Given the description of an element on the screen output the (x, y) to click on. 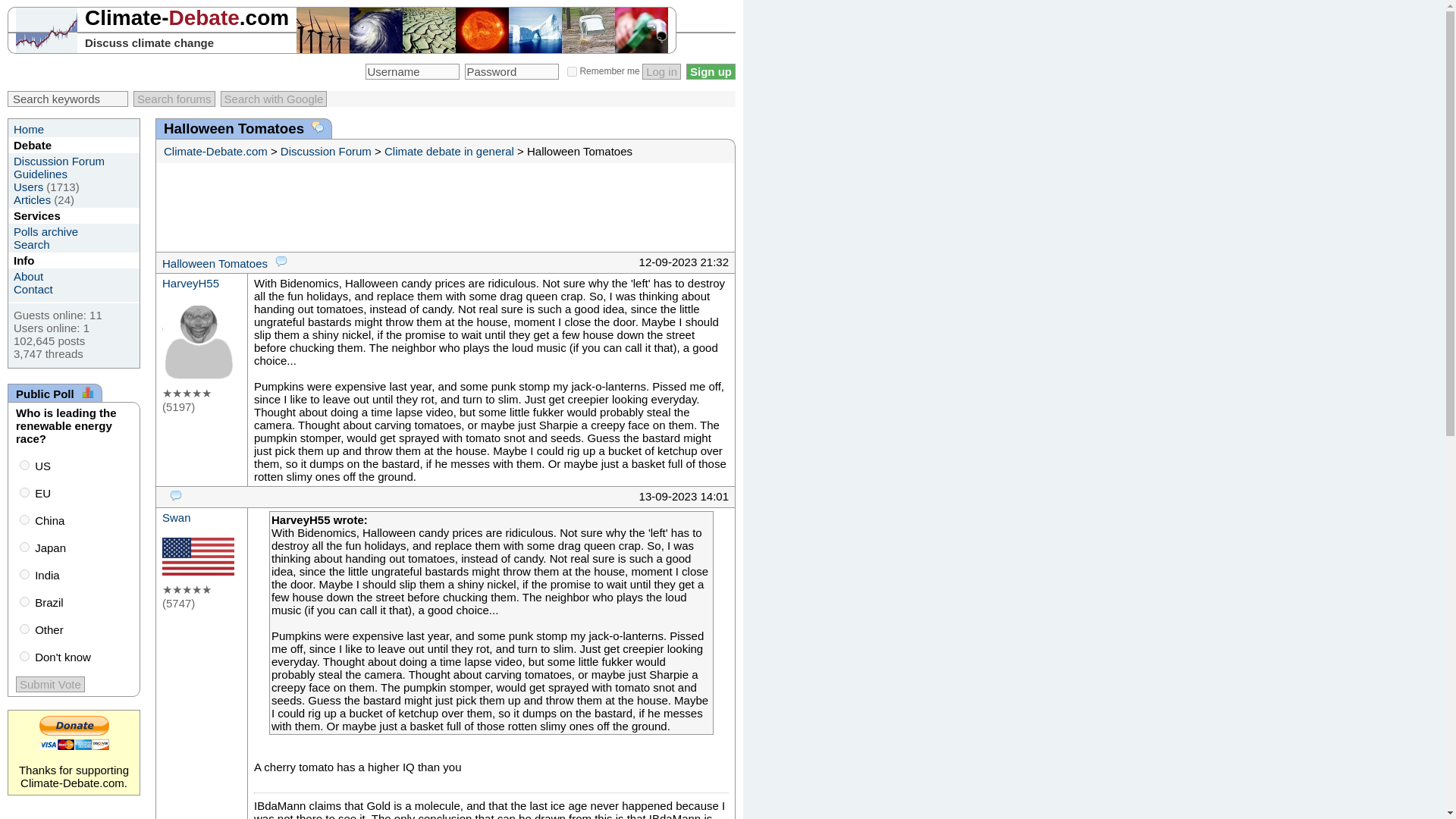
Advertisement (441, 205)
Articles (31, 199)
3 (24, 547)
5 (24, 601)
Home (28, 128)
Search forums (174, 98)
Search (31, 244)
Frontpage with the latest active threads. (28, 128)
About (28, 276)
Search forums (174, 98)
Search keywords (67, 98)
Password (511, 71)
Username (412, 71)
Search with Google (274, 98)
Log in (661, 71)
